Given the description of an element on the screen output the (x, y) to click on. 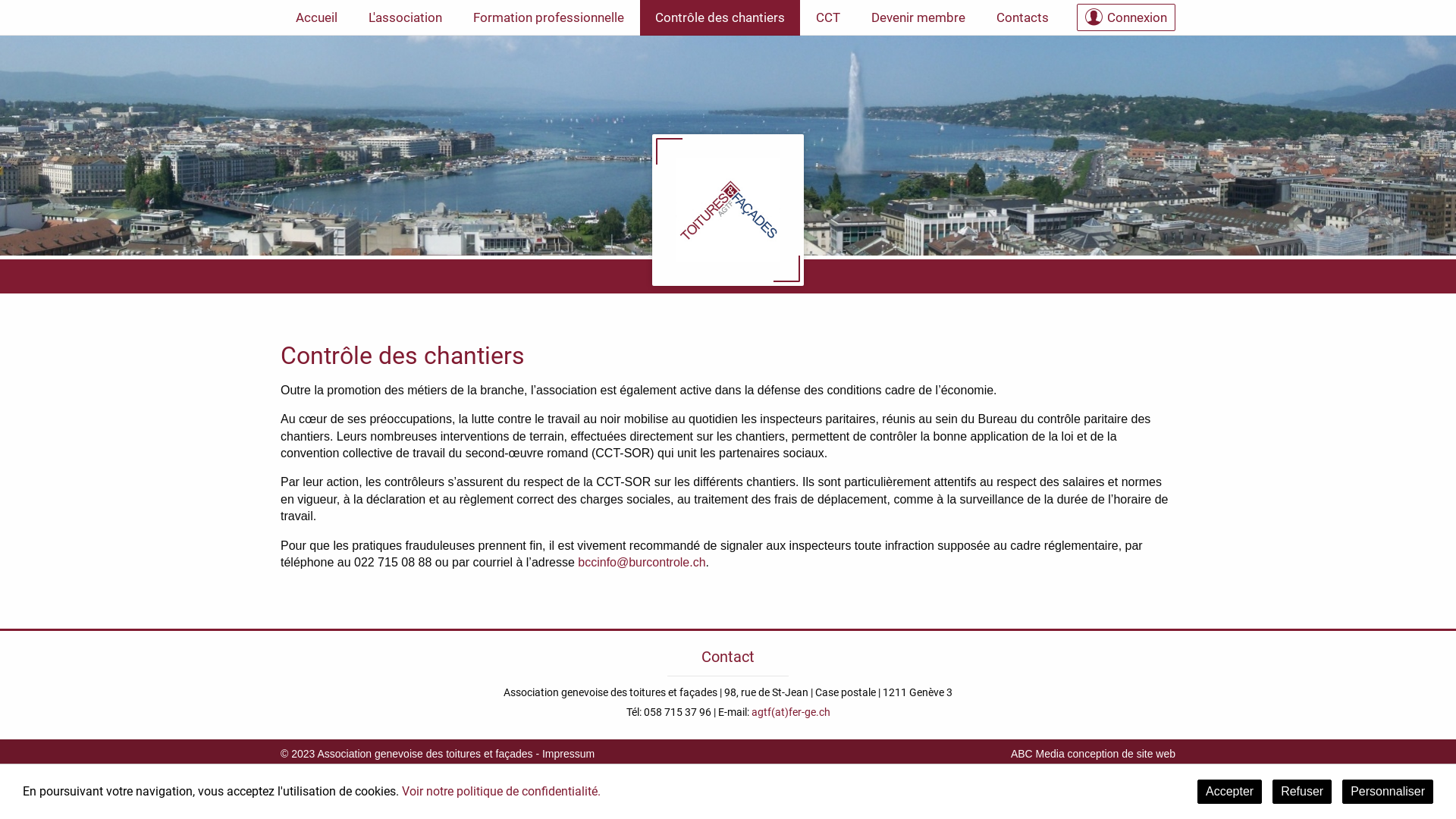
ABC Media conception de site web Element type: text (1092, 753)
Impressum Element type: text (568, 753)
Connexion Element type: text (1125, 17)
Refuser Element type: text (1301, 791)
bccinfo@burcontrole.ch Element type: text (641, 561)
L'association Element type: text (405, 17)
agtf(at)fer-ge.ch Element type: text (789, 712)
Contacts Element type: text (1022, 17)
Formation professionnelle Element type: text (548, 17)
Devenir membre Element type: text (918, 17)
Accueil Element type: text (316, 17)
CCT Element type: text (827, 17)
Accepter Element type: text (1229, 791)
Personnaliser Element type: text (1387, 791)
